Given the description of an element on the screen output the (x, y) to click on. 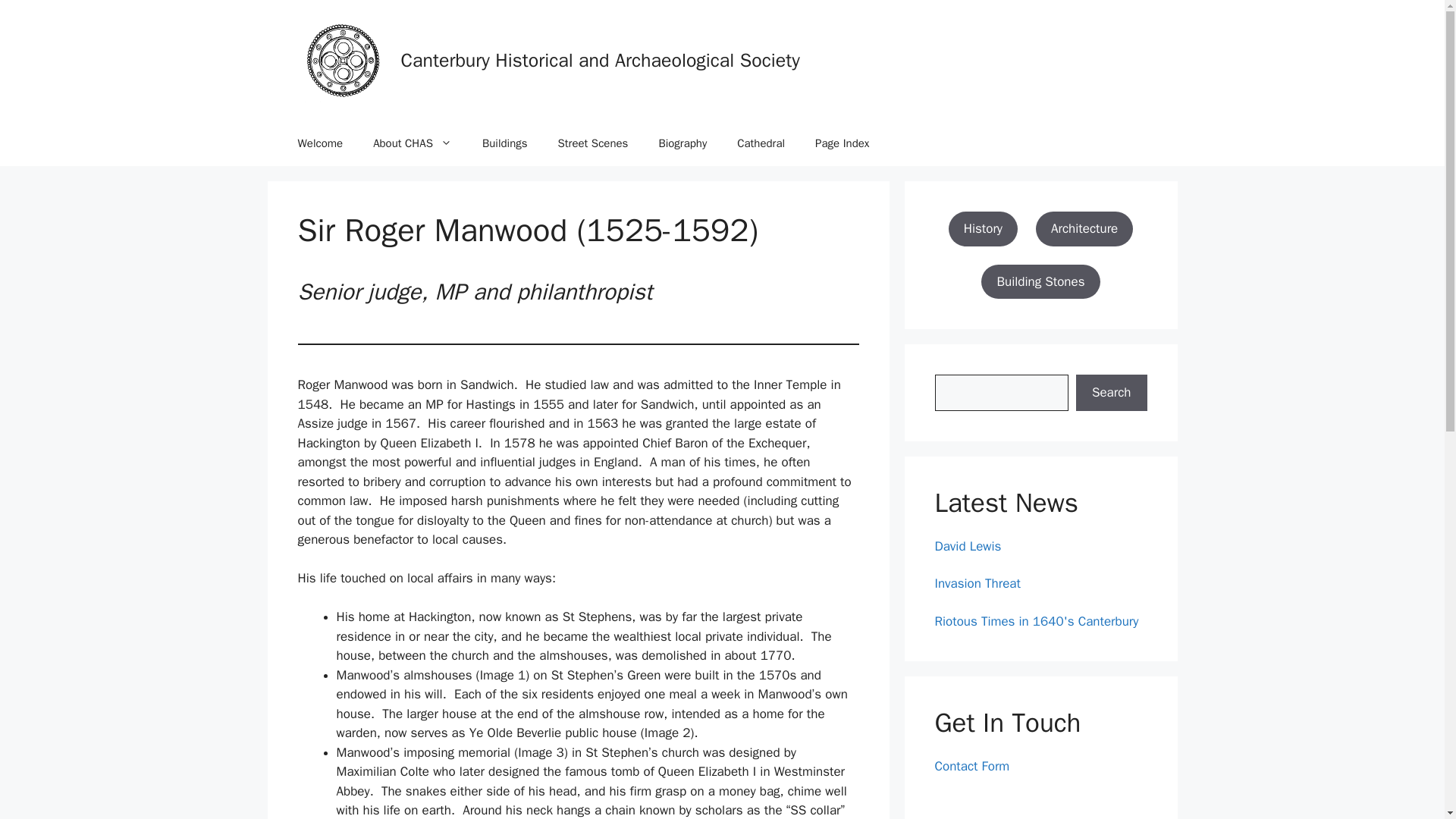
Building Stones (1040, 280)
Cathedral (760, 143)
History (983, 228)
Street Scenes (593, 143)
Biography (682, 143)
Canterbury Historical and Archaeological Society (599, 60)
Search (1111, 392)
Invasion Threat (977, 583)
About CHAS (412, 143)
Welcome (320, 143)
